Given the description of an element on the screen output the (x, y) to click on. 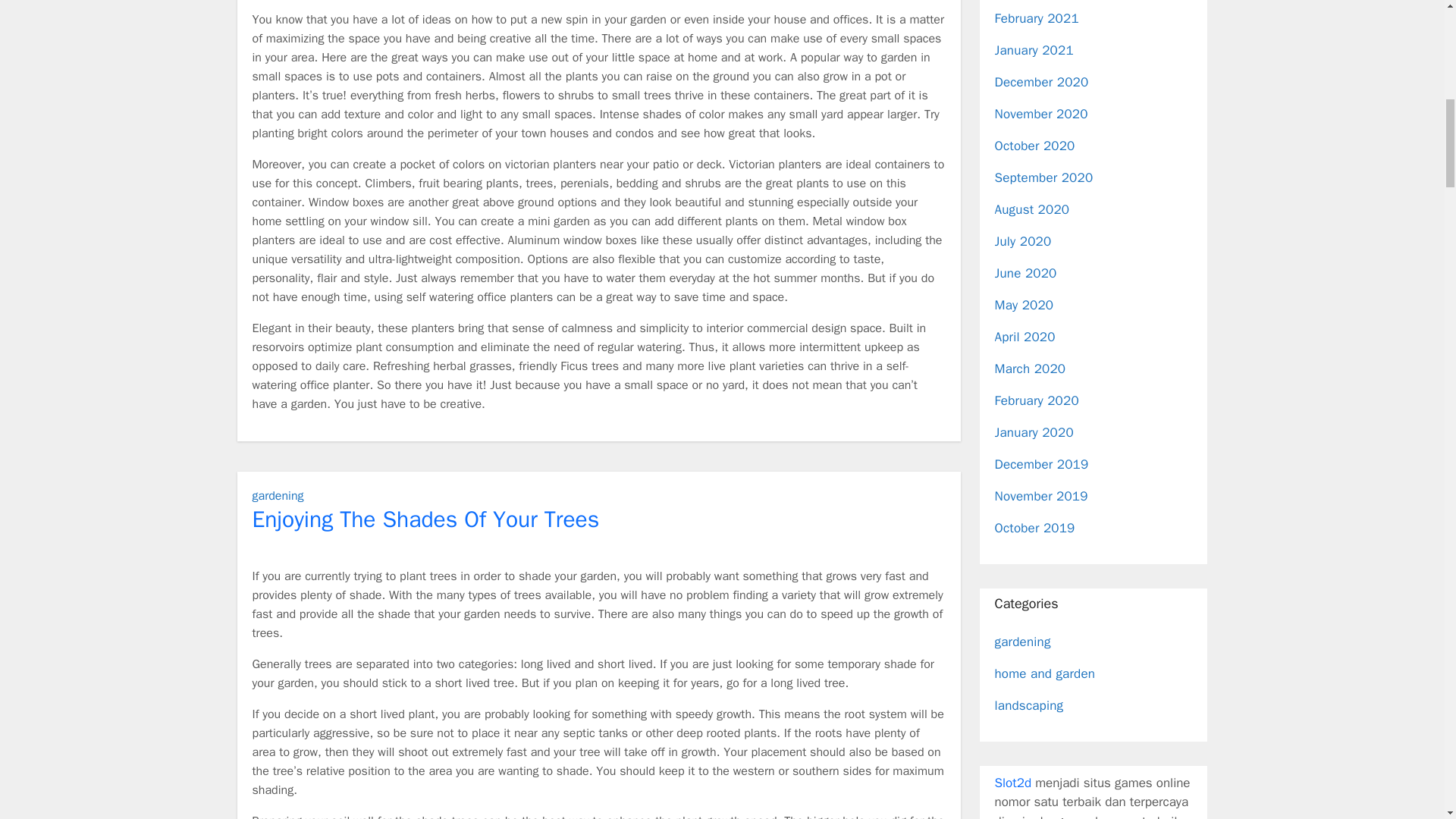
Enjoying The Shades Of Your Trees (424, 519)
gardening (276, 495)
